Given the description of an element on the screen output the (x, y) to click on. 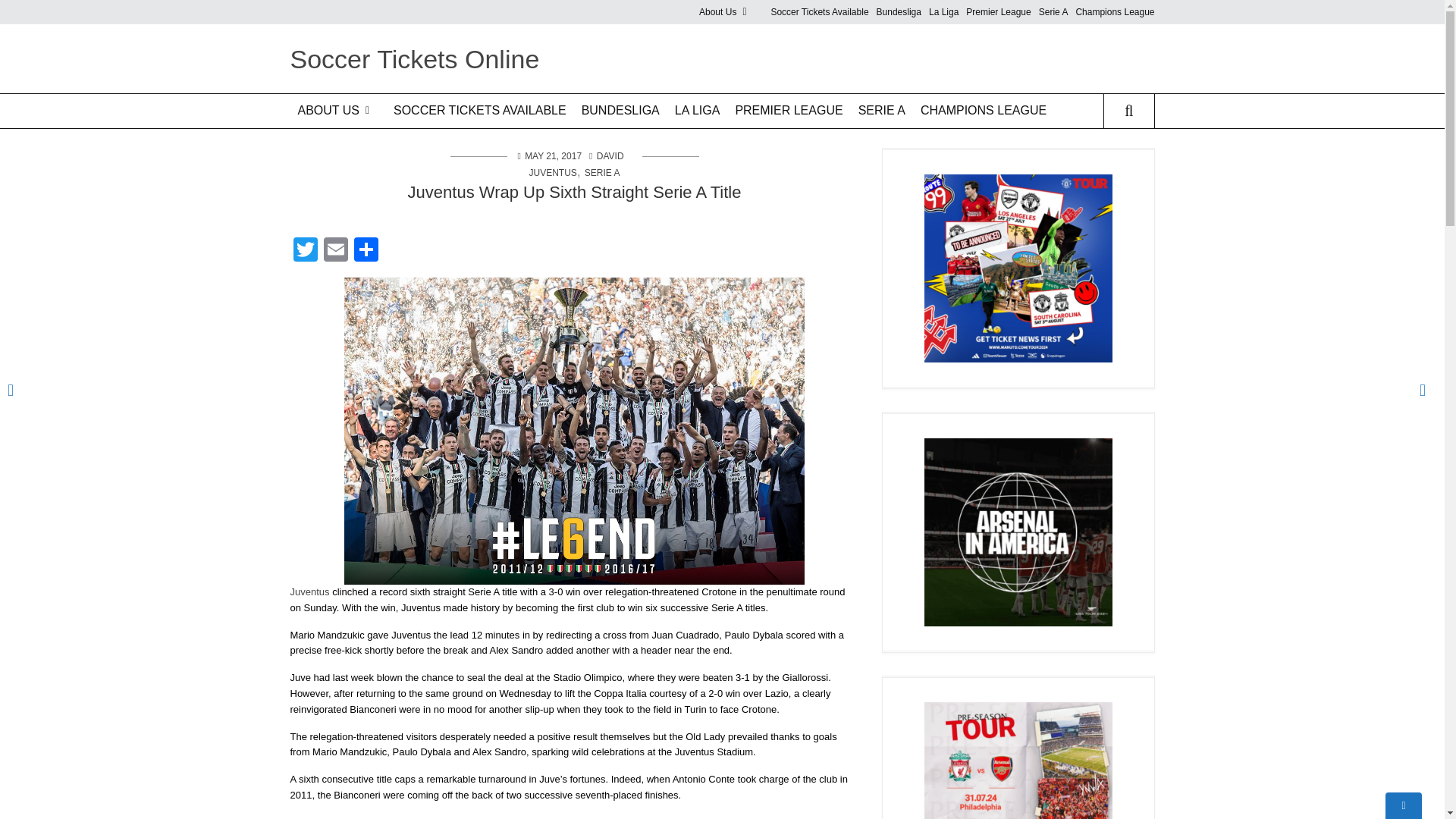
Privacy (755, 70)
MAY 21, 2017 (552, 155)
Soccer Tickets Online (413, 59)
Juventus (309, 591)
About Us (730, 12)
La Liga (943, 12)
Soccer Tickets Available (818, 12)
Privacy (346, 173)
Champions League (1114, 12)
SERIE A (602, 172)
PREMIER LEAGUE (788, 110)
SERIE A (881, 110)
Twitter (304, 251)
ABOUT US (337, 110)
Twitter (304, 251)
